Given the description of an element on the screen output the (x, y) to click on. 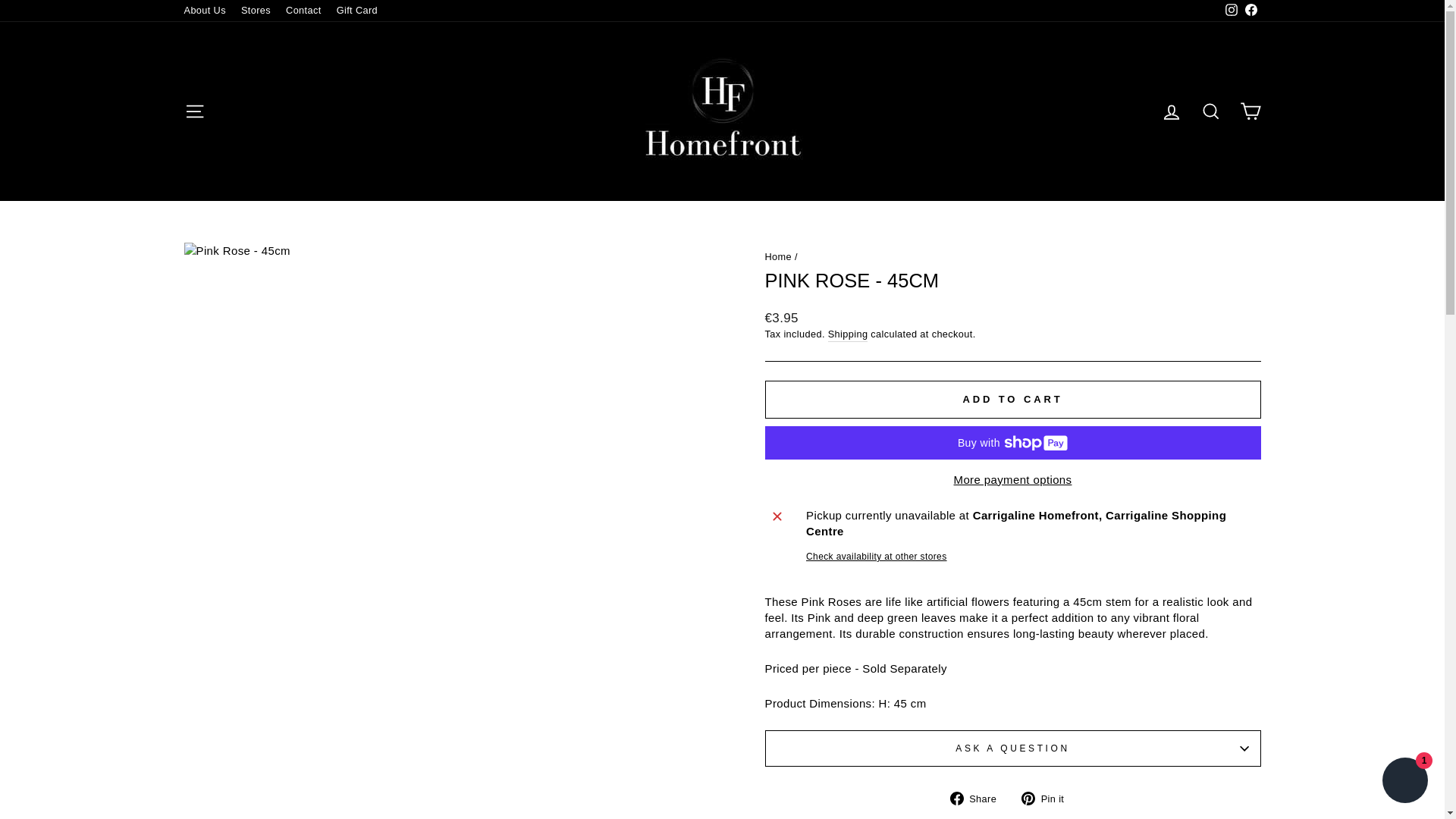
Back to the frontpage (778, 256)
Pin on Pinterest (1048, 797)
Shopify online store chat (1404, 781)
Share on Facebook (978, 797)
